Given the description of an element on the screen output the (x, y) to click on. 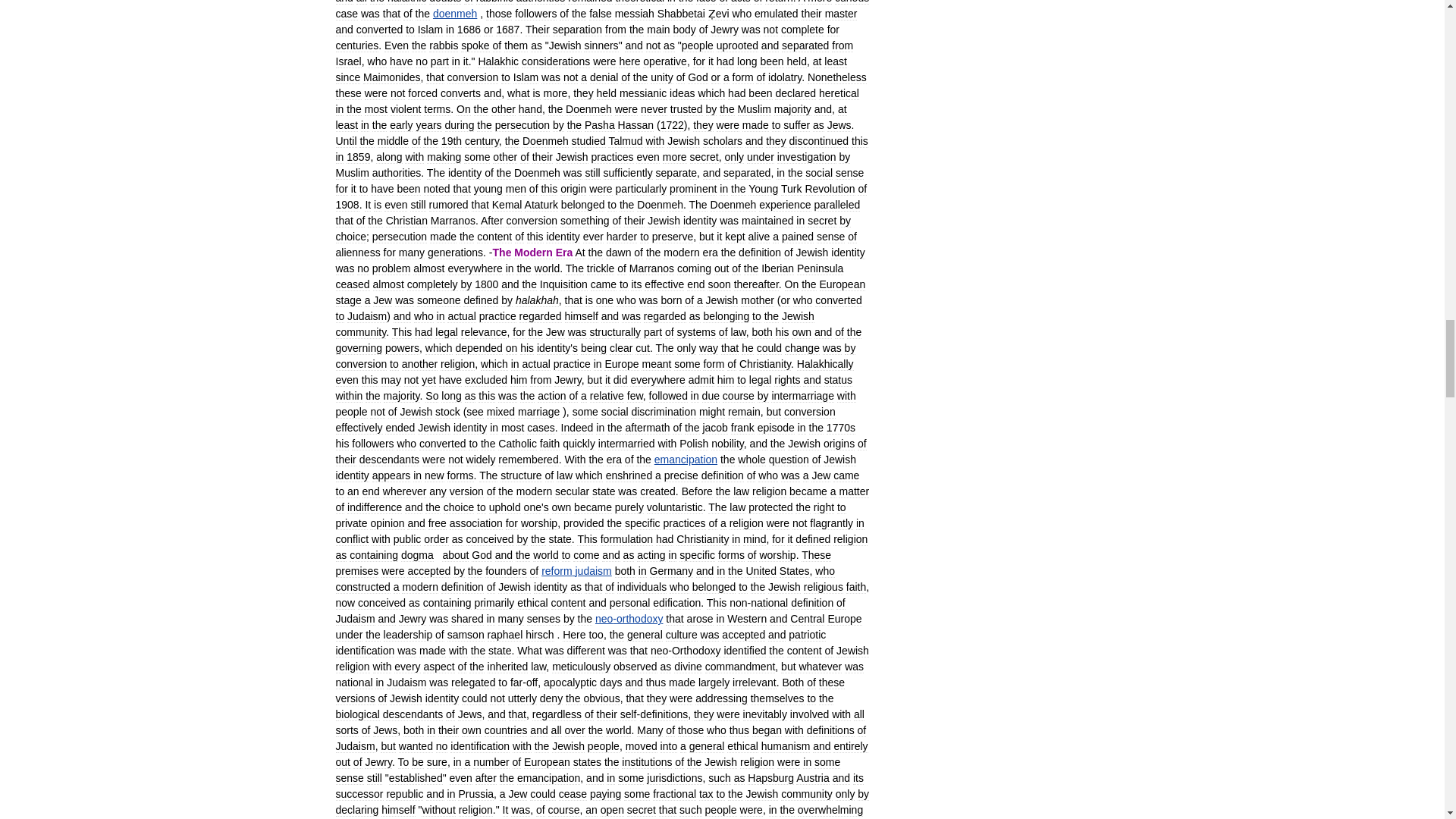
emancipation (685, 459)
doenmeh (454, 13)
reform judaism (576, 571)
neo-orthodoxy (629, 618)
